Given the description of an element on the screen output the (x, y) to click on. 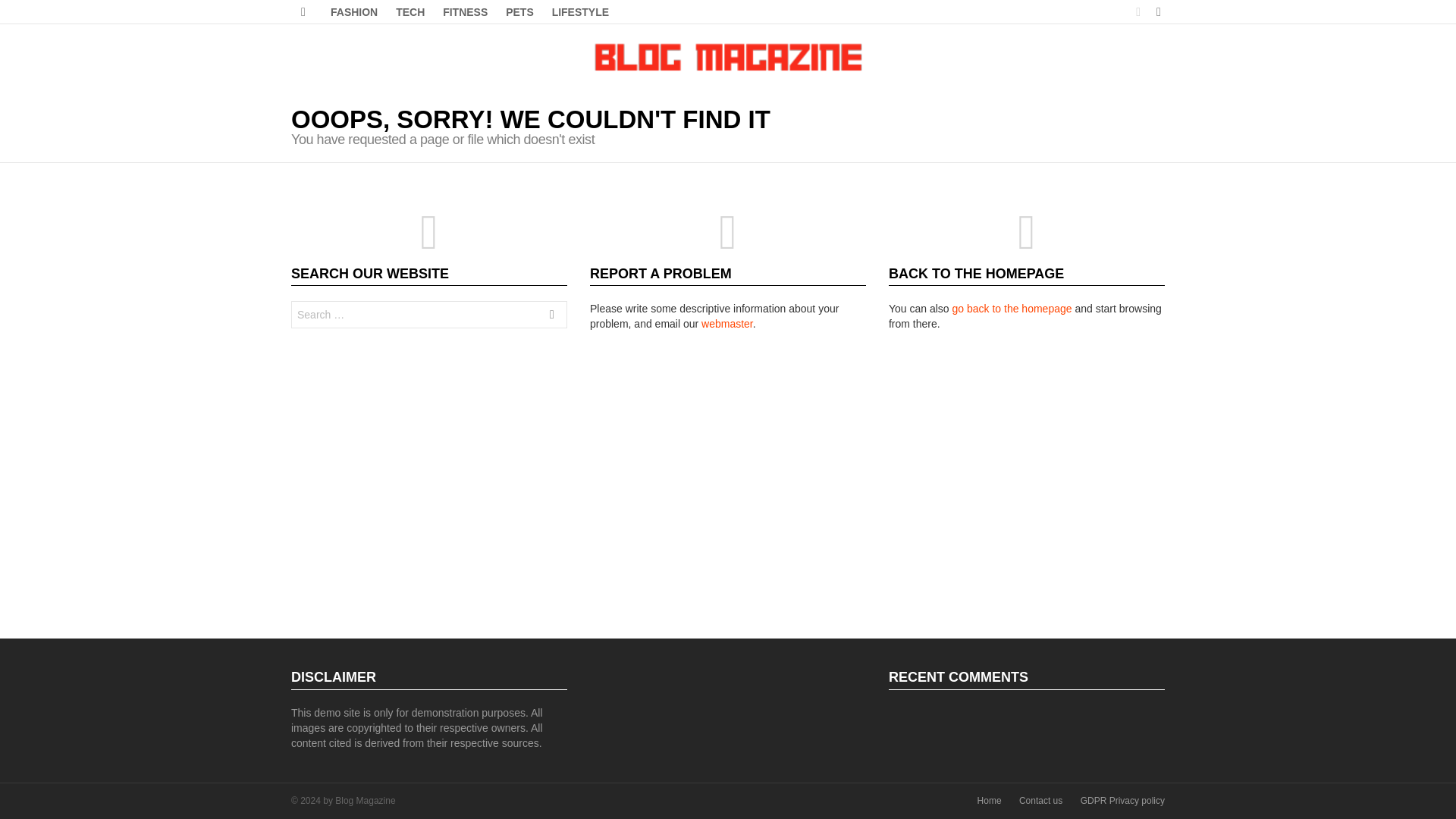
PETS (519, 11)
Search for: (429, 314)
SEARCH (552, 316)
go back to the homepage (1011, 308)
TECH (410, 11)
FITNESS (465, 11)
Home (989, 800)
GDPR Privacy policy (1122, 800)
Contact us (1040, 800)
FASHION (354, 11)
Menu (303, 12)
webmaster (726, 323)
LIFESTYLE (579, 11)
